Given the description of an element on the screen output the (x, y) to click on. 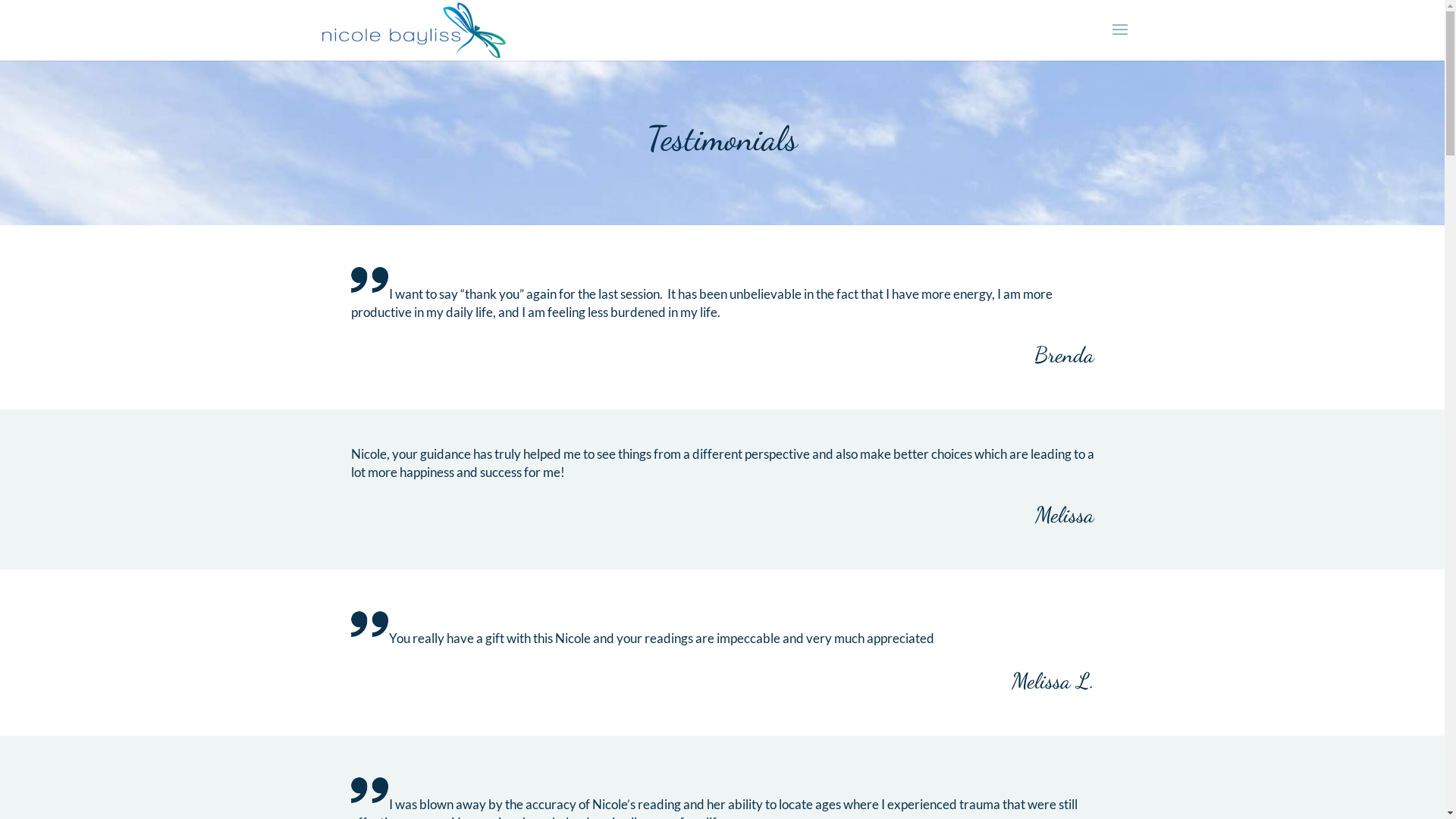
Skip to content Element type: text (0, 0)
